Given the description of an element on the screen output the (x, y) to click on. 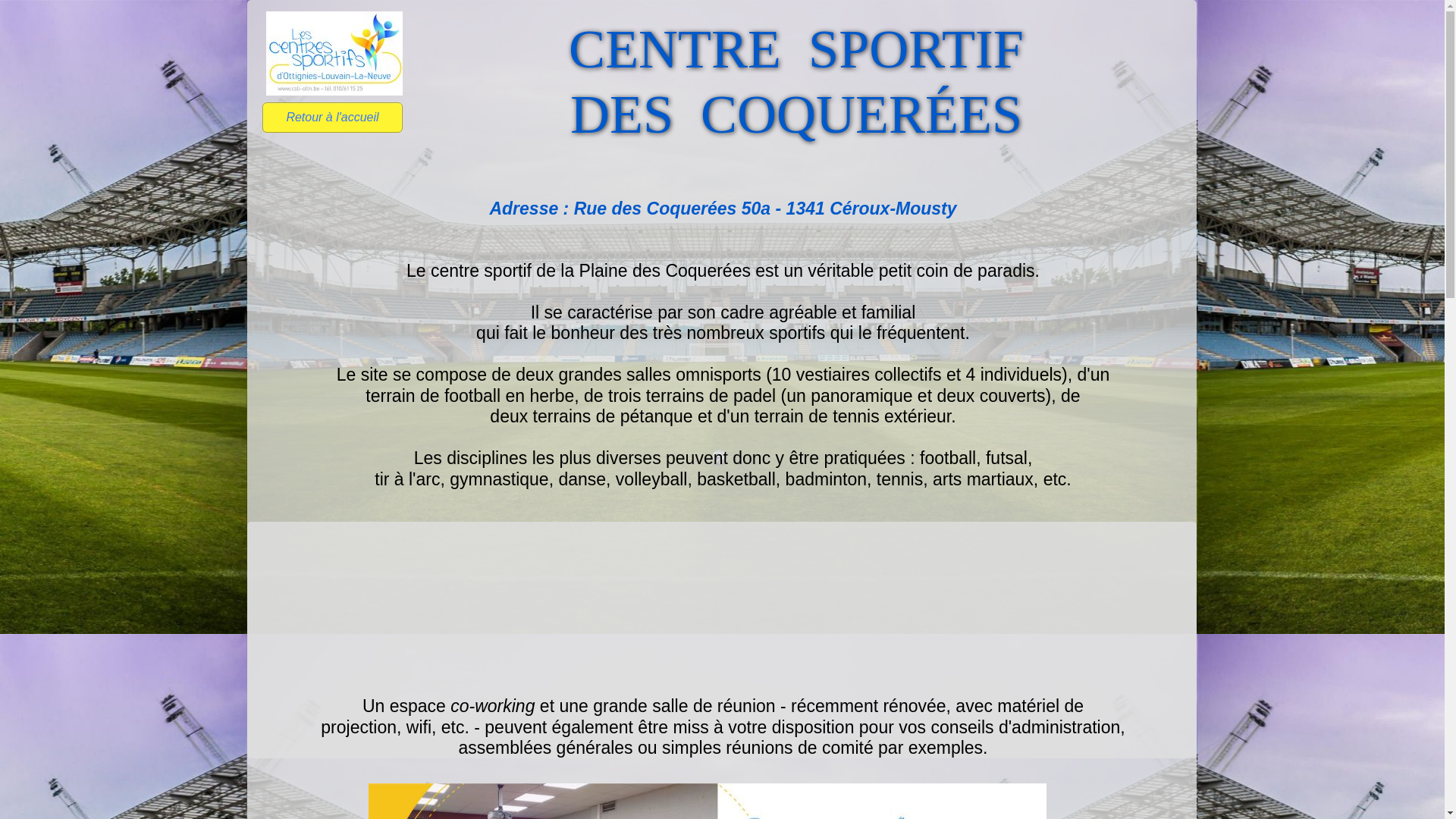
  Element type: text (672, 6)
  Element type: text (672, 545)
  Element type: text (248, 6)
